Given the description of an element on the screen output the (x, y) to click on. 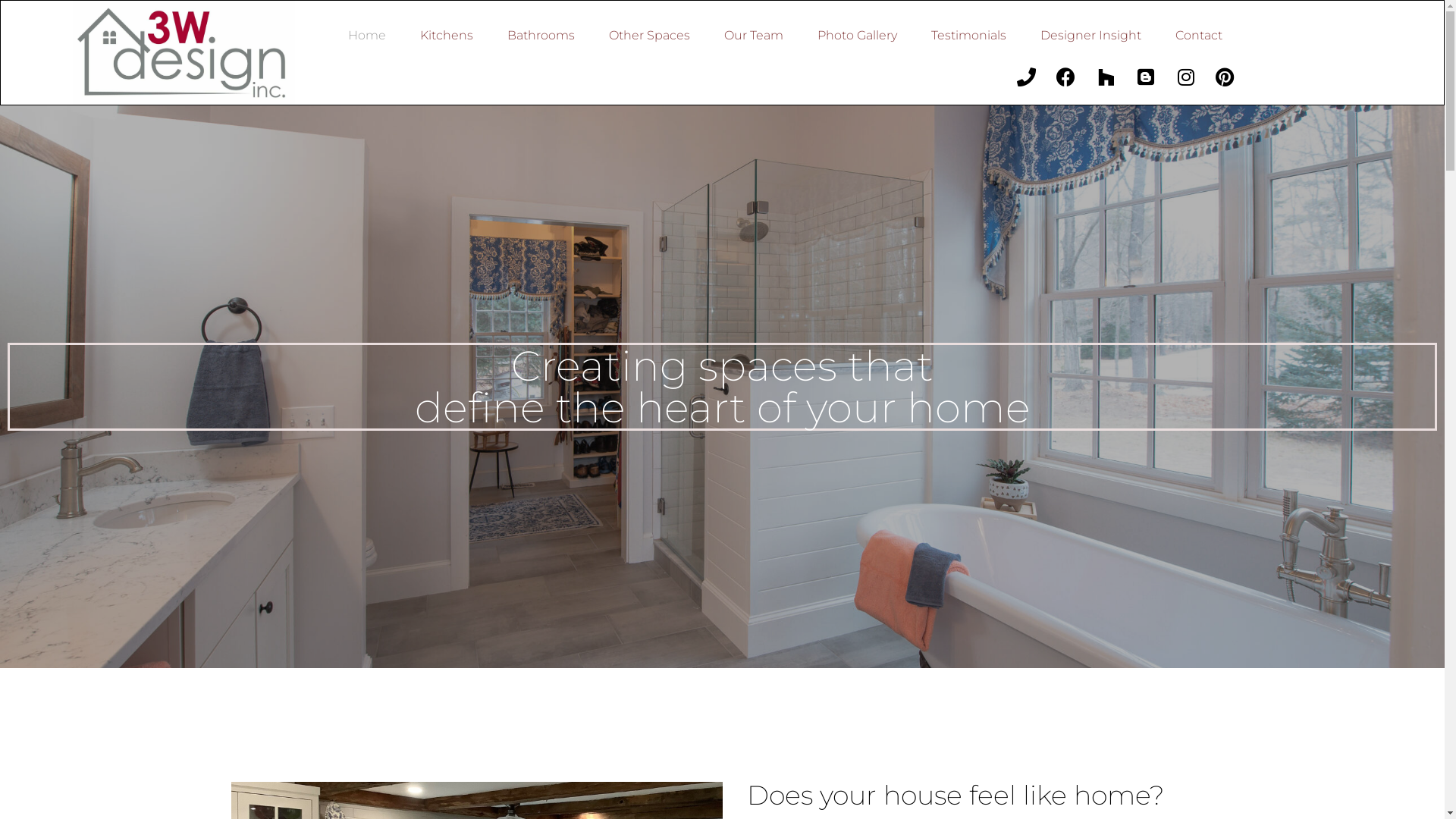
Photo Gallery Element type: text (857, 35)
Other Spaces Element type: text (649, 35)
Kitchens Element type: text (446, 35)
Bathrooms Element type: text (540, 35)
Testimonials Element type: text (968, 35)
Contact Element type: text (1198, 35)
Designer Insight Element type: text (1090, 35)
Home Element type: text (366, 35)
Our Team Element type: text (753, 35)
